Given the description of an element on the screen output the (x, y) to click on. 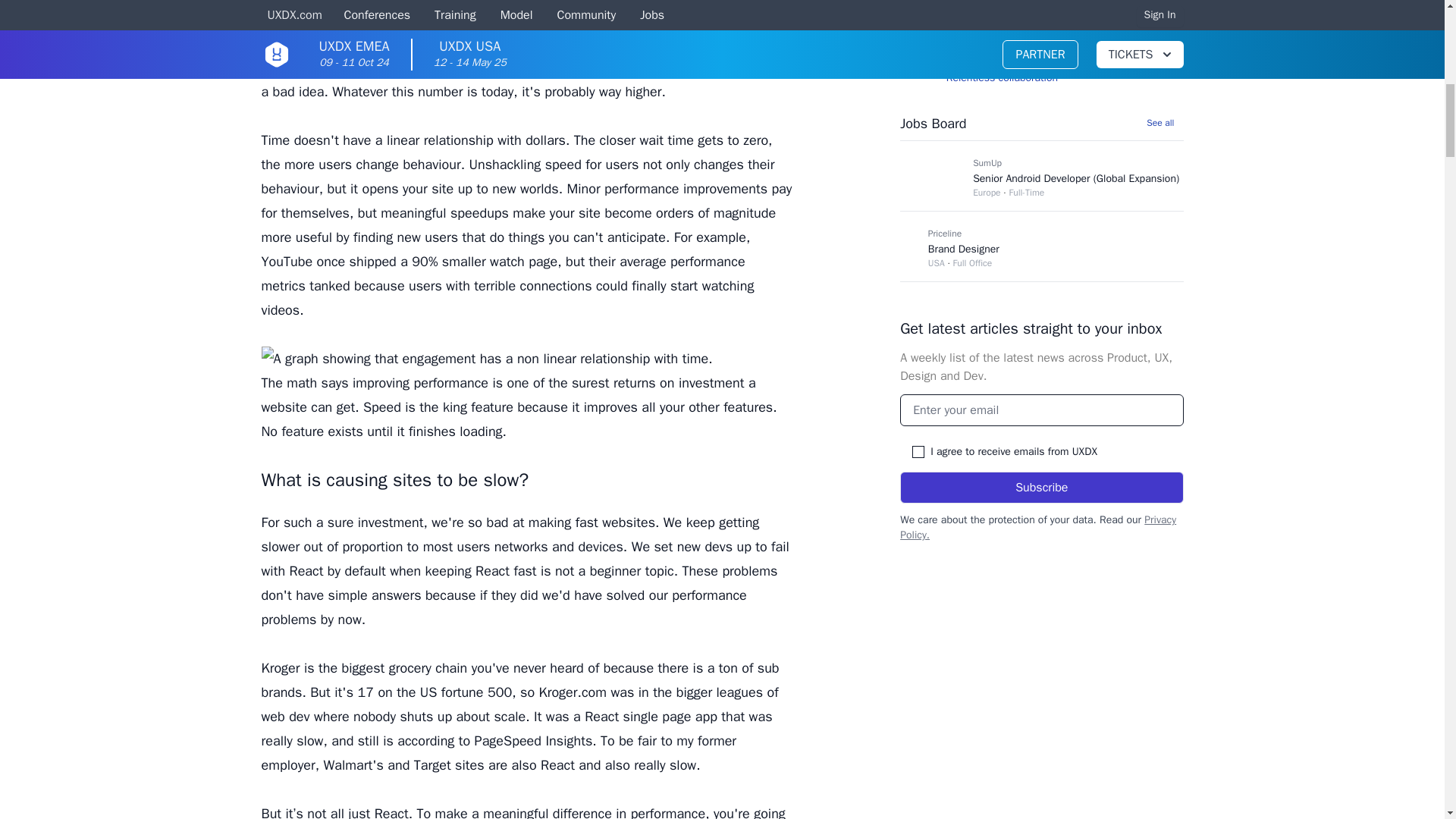
on (918, 451)
